Given the description of an element on the screen output the (x, y) to click on. 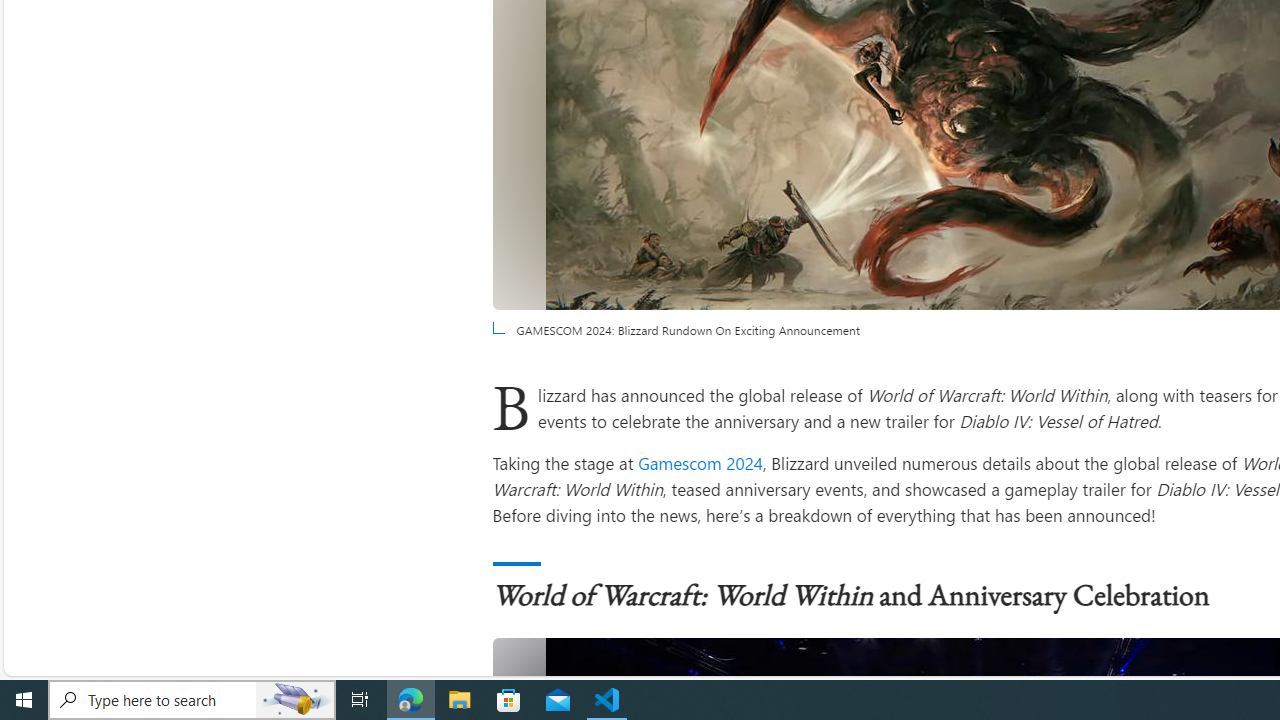
Gamescom 2024 (700, 462)
